Given the description of an element on the screen output the (x, y) to click on. 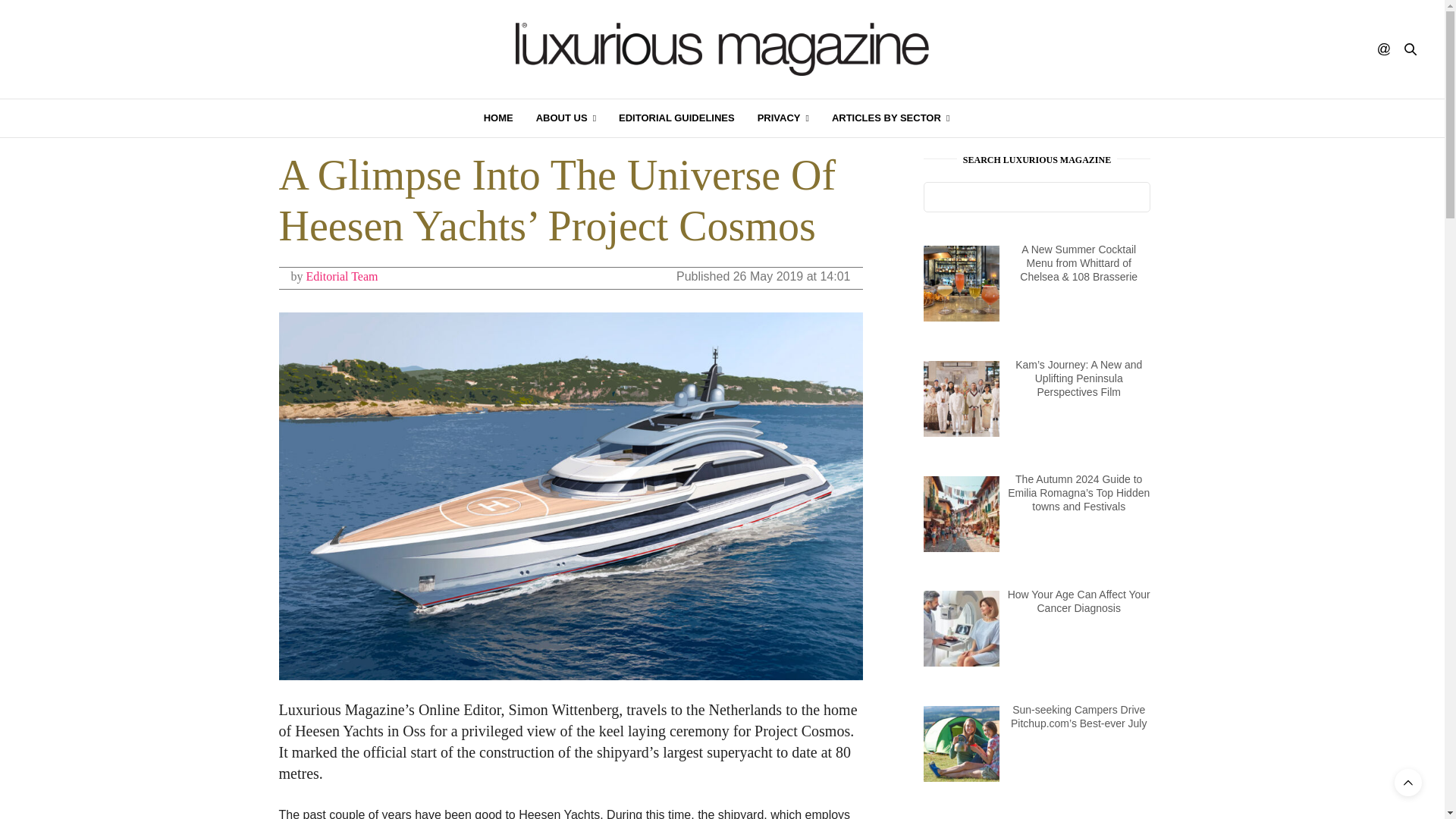
Luxurious Magazine articles by industry sector (890, 118)
ABOUT US (565, 118)
Posts by Editorial Team (341, 276)
Luxurious Magazine (722, 49)
